Given the description of an element on the screen output the (x, y) to click on. 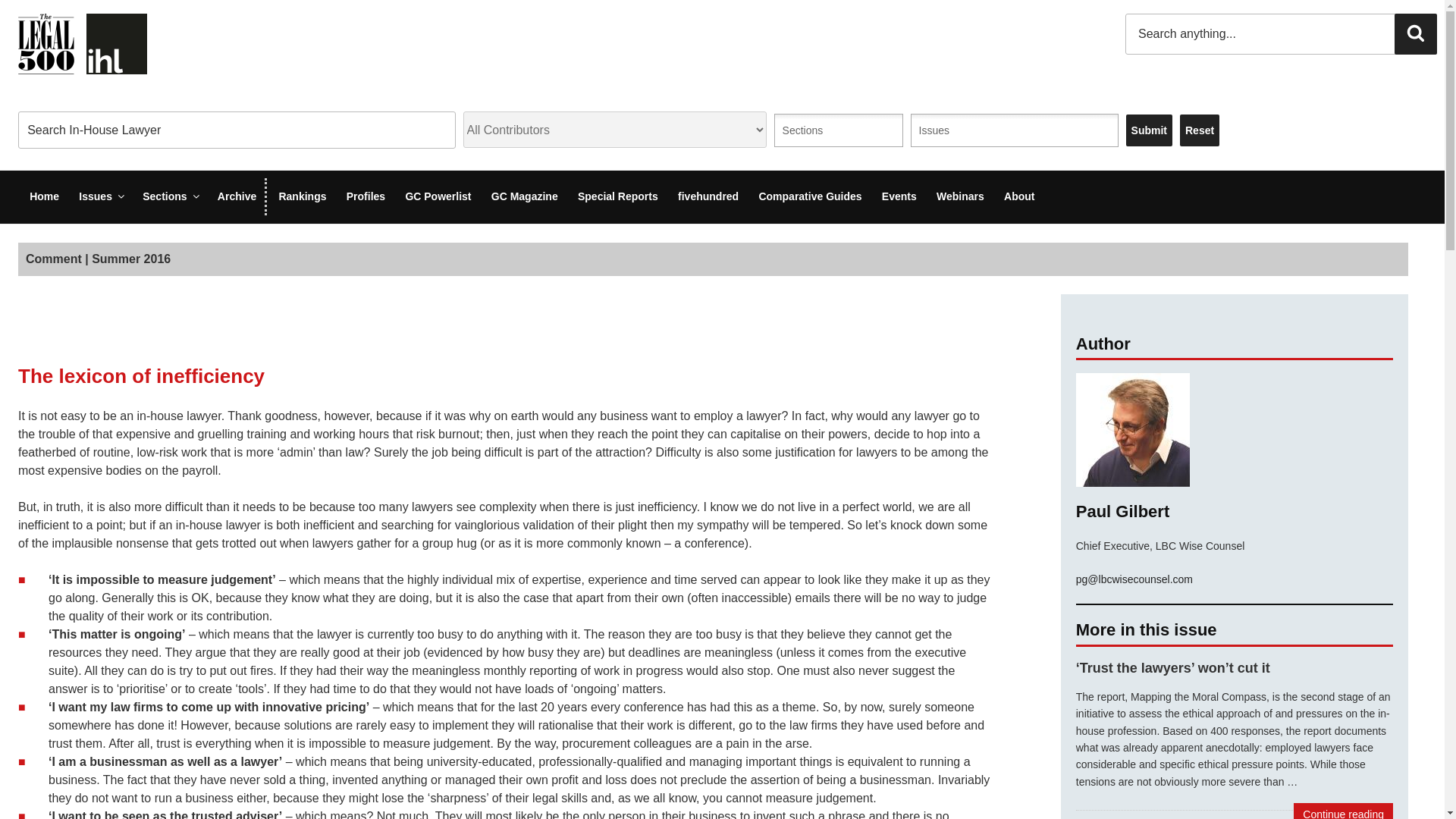
Webinars (960, 196)
Category Selection (838, 130)
fivehundred (708, 196)
Comparative Guides (809, 196)
Issues (943, 130)
Issues (943, 130)
Reset (1199, 129)
Sections (811, 130)
Archive (236, 196)
Special Reports (617, 196)
Profiles (365, 196)
Sections (811, 130)
Reset (1199, 129)
Issues (100, 196)
Submit (1148, 129)
